Given the description of an element on the screen output the (x, y) to click on. 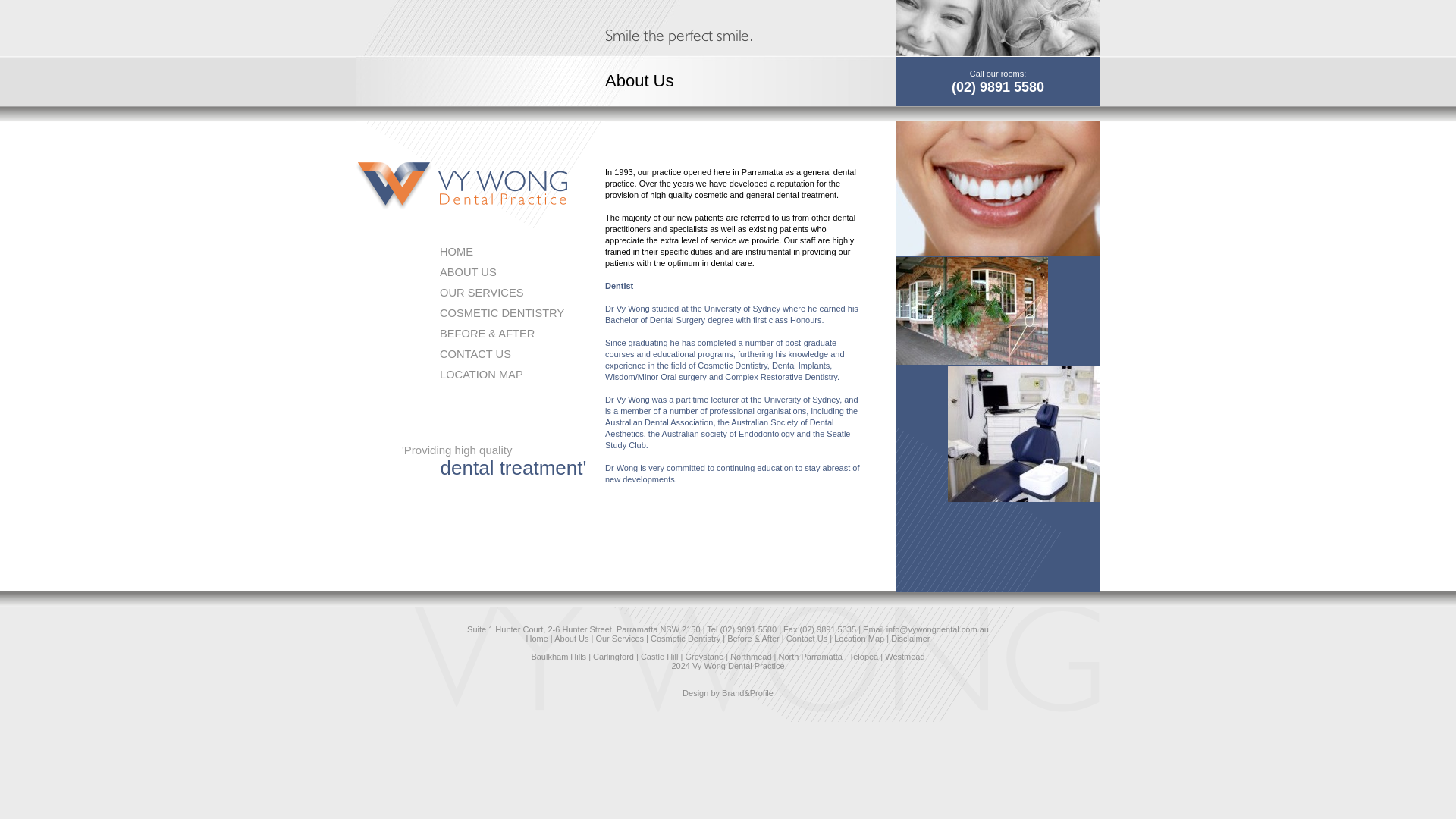
Castle Hill (659, 655)
Contact Us (806, 637)
Baulkham Hills (558, 655)
Disclaimer (910, 637)
Carlingford (612, 655)
Our Services (619, 637)
About Us (571, 637)
Telopea (863, 655)
Cosmetic Dentistry (685, 637)
Location Map (858, 637)
